Given the description of an element on the screen output the (x, y) to click on. 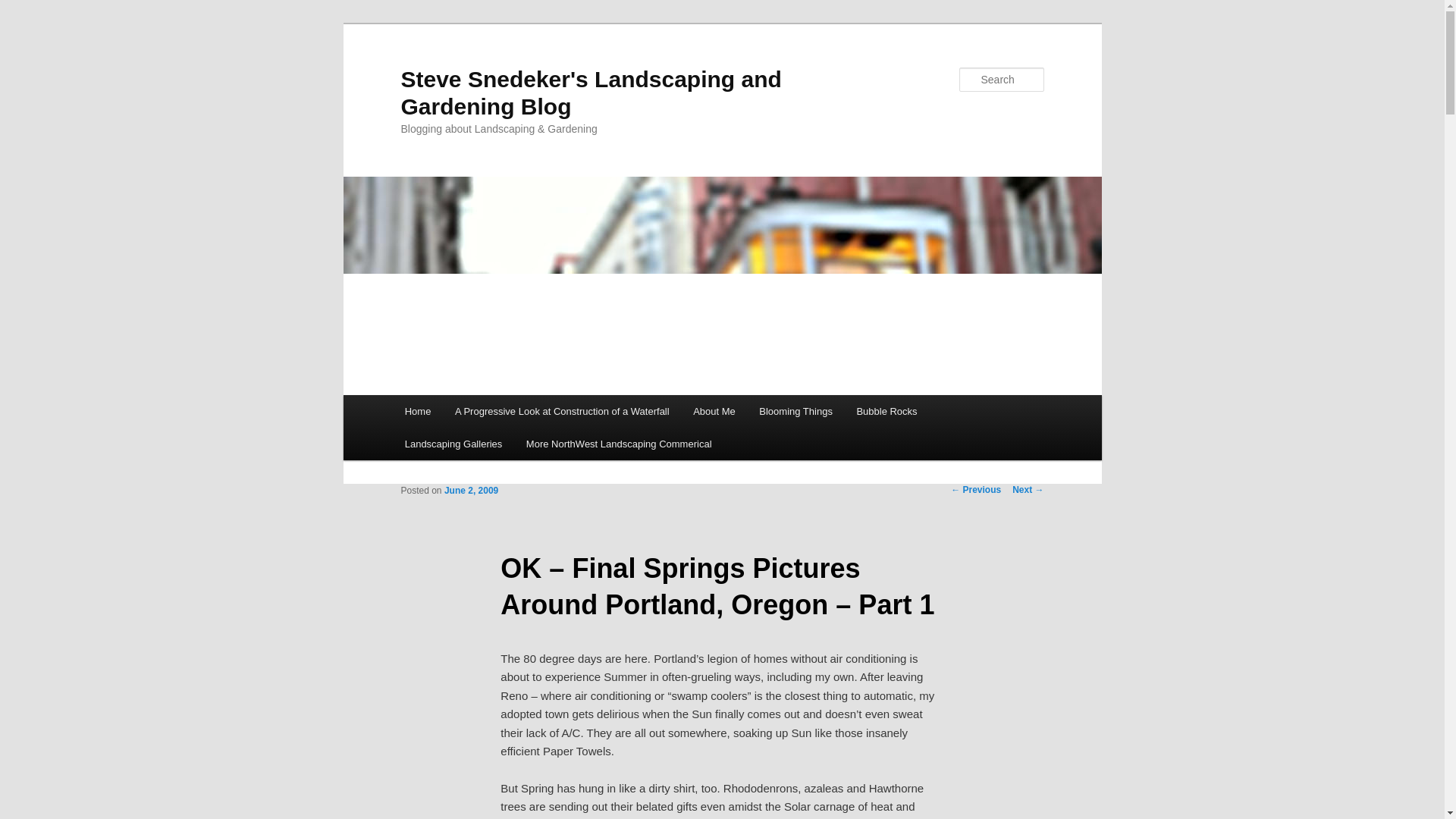
A Progressive Look at Construction of a Waterfall (561, 410)
Steve Snedeker's Landscaping and Gardening Blog (590, 92)
7:19 am (470, 490)
Landscaping Galleries (453, 443)
June 2, 2009 (470, 490)
About Me (713, 410)
Search (24, 8)
More NorthWest Landscaping Commerical (618, 443)
Home (417, 410)
